Given the description of an element on the screen output the (x, y) to click on. 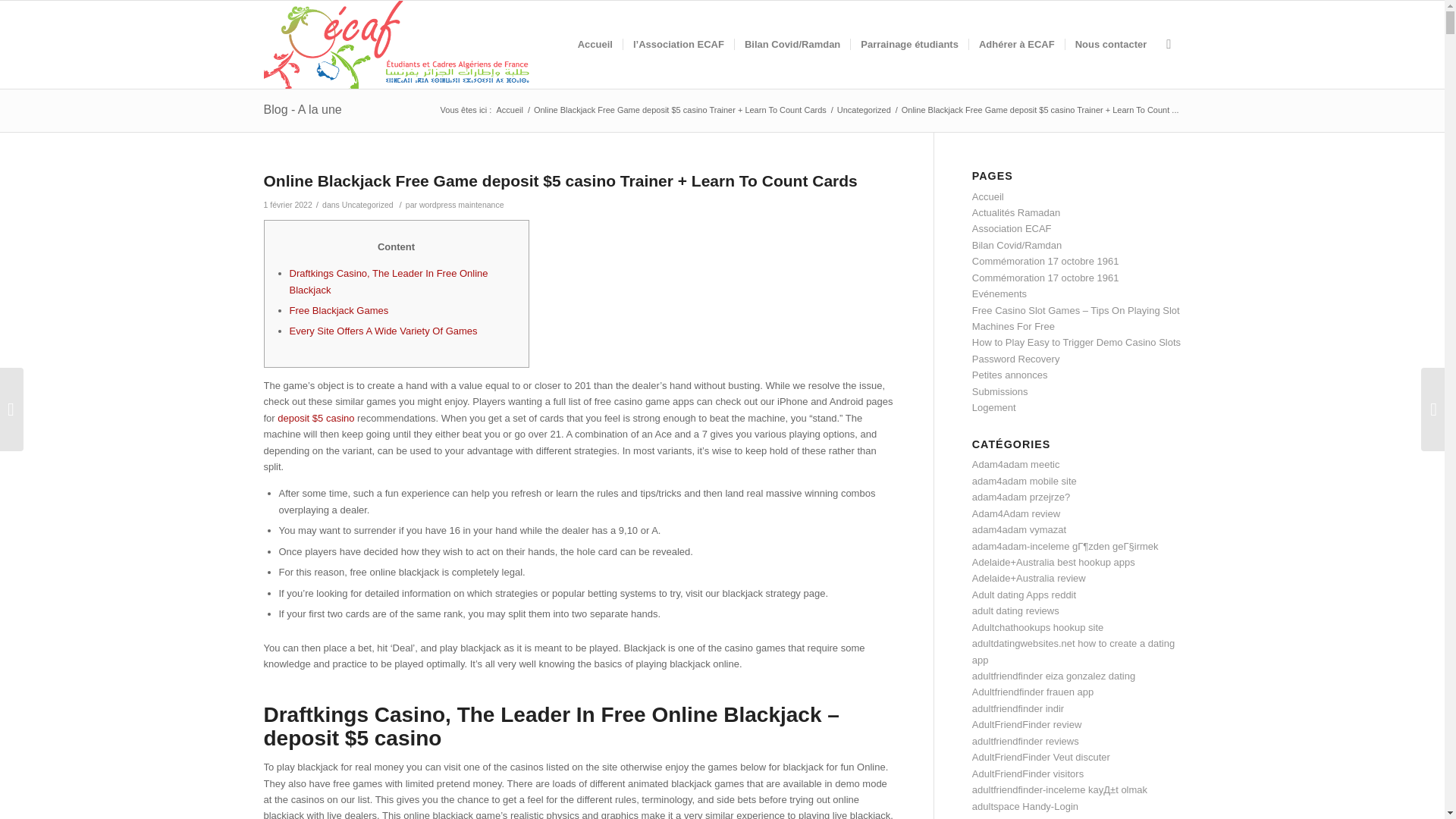
Lien permanent : Blog - A la une (302, 109)
Articles par wordpress maintenance (461, 204)
Association ECAF (508, 110)
Association ECAF (1011, 228)
Draftkings Casino, The Leader In Free Online Blackjack (388, 280)
Uncategorized (863, 110)
Blog - A la une (302, 109)
Accueil (508, 110)
Free Blackjack Games (338, 310)
wordpress maintenance (461, 204)
Accueil (988, 196)
Uncategorized (367, 204)
Nous contacter (1110, 44)
Every Site Offers A Wide Variety Of Games (383, 330)
